Given the description of an element on the screen output the (x, y) to click on. 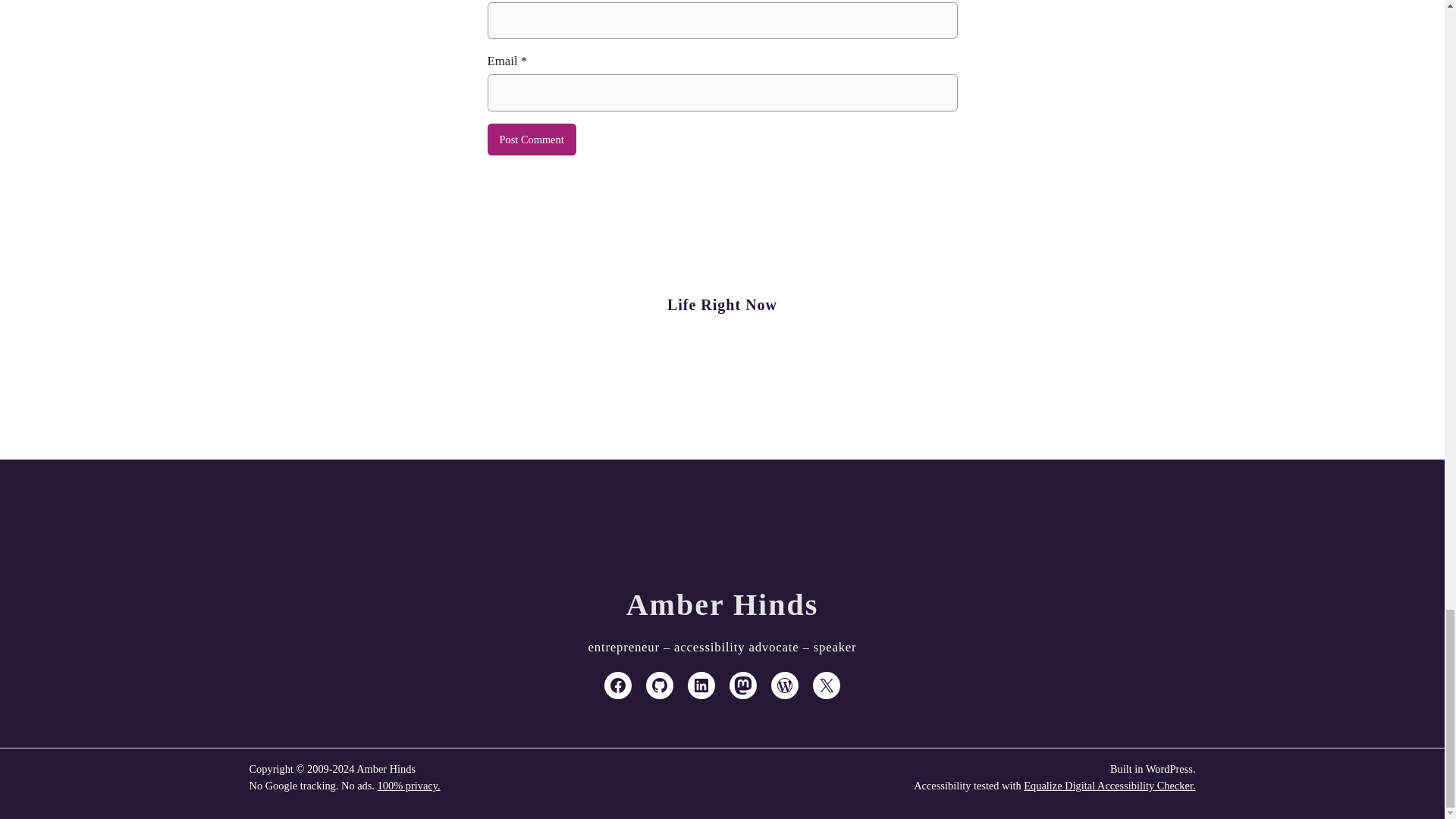
Amber on Mastodon (743, 685)
Post Comment (530, 139)
Amber's WordPress dot org profile (784, 685)
Equalize Digital Accessibility Checker. (1109, 785)
Amber on GitHub (659, 685)
Amber on Facebook (617, 685)
Amber on LinkedIn (700, 685)
Post Comment (530, 139)
